Given the description of an element on the screen output the (x, y) to click on. 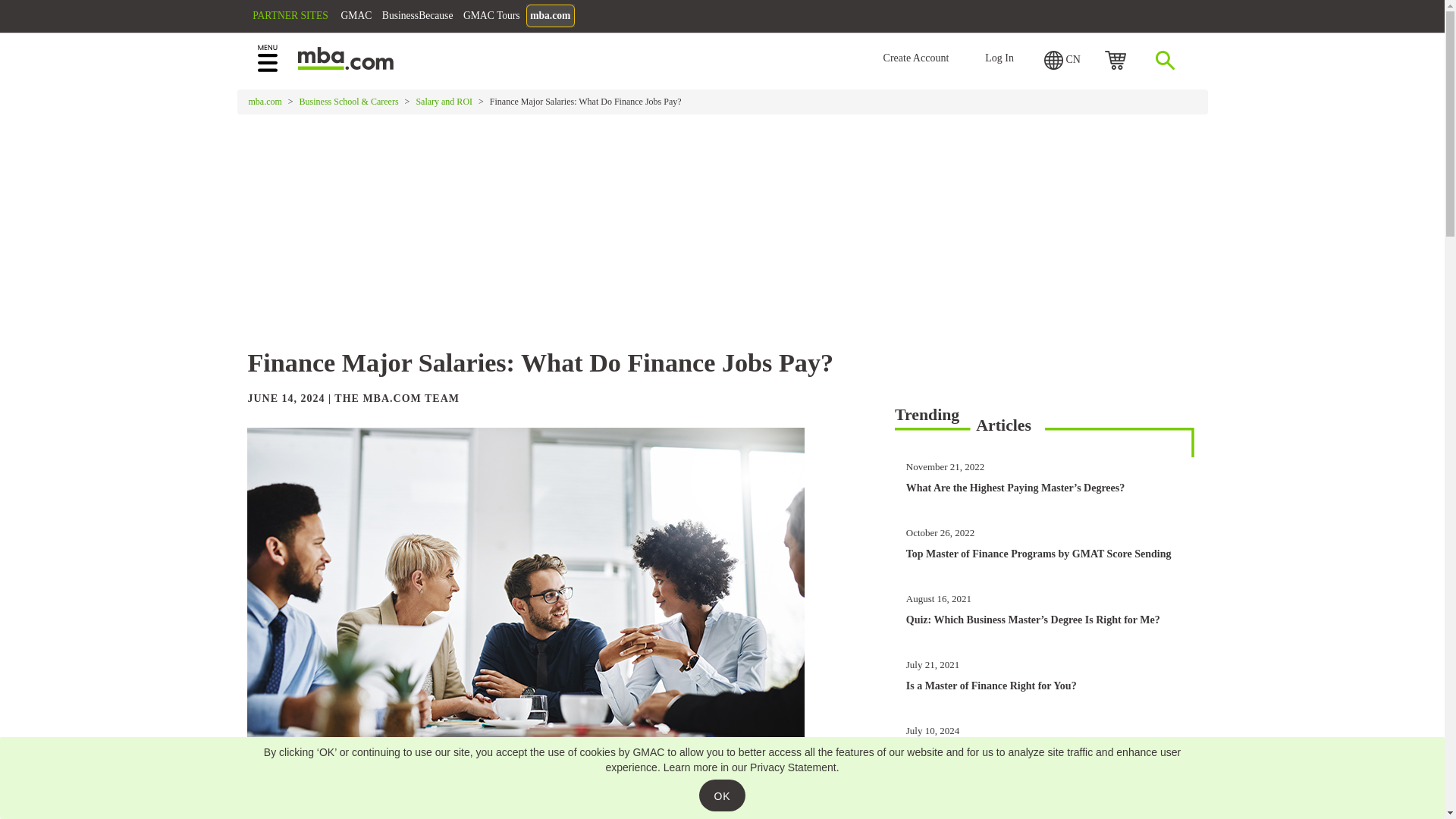
BusinessBecause (491, 17)
GMAC Tours (577, 17)
mba.com (646, 17)
GMAC (419, 17)
PARTNER SITES (345, 18)
